Given the description of an element on the screen output the (x, y) to click on. 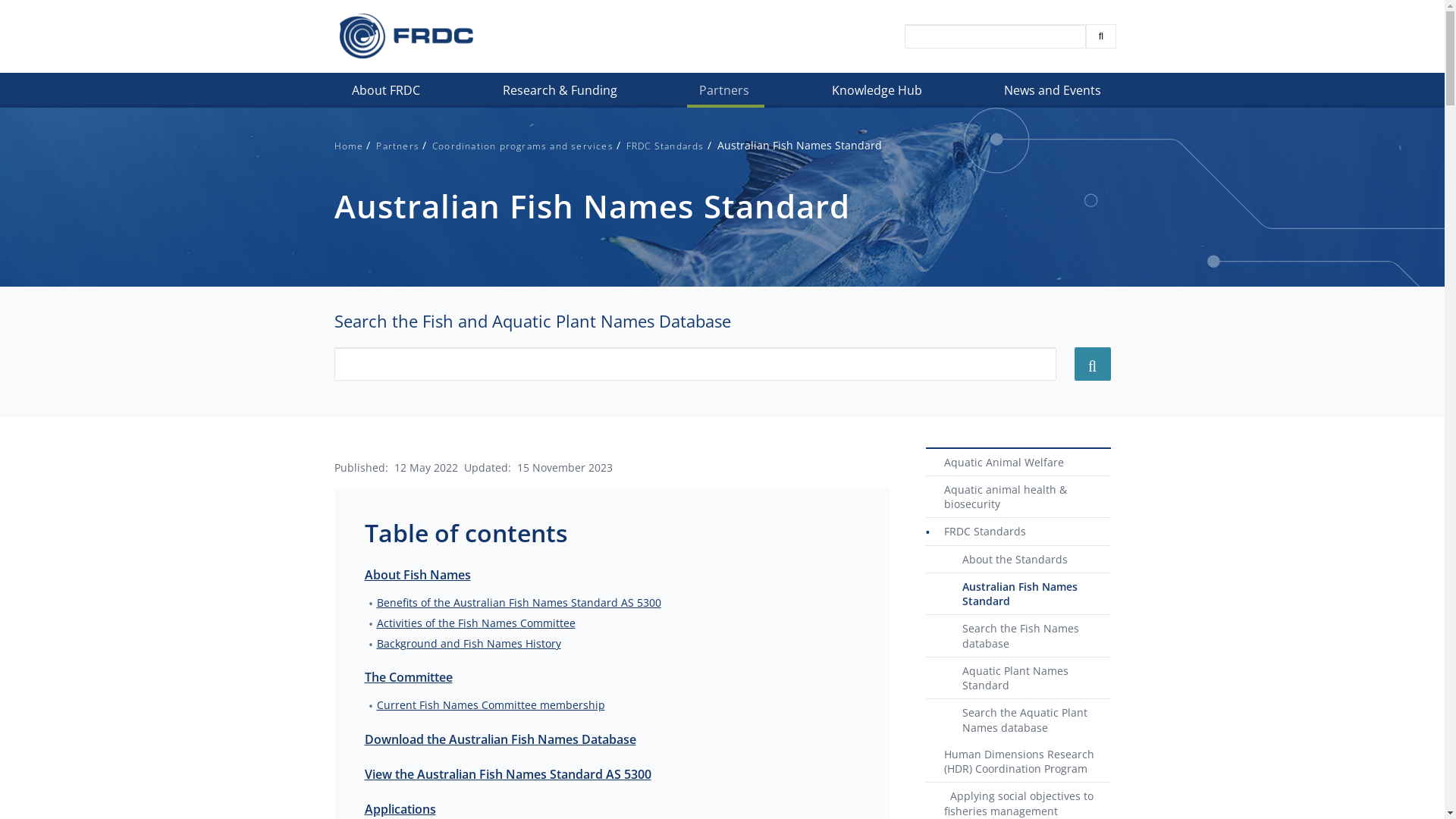
Research & Funding Element type: text (560, 93)
View the Australian Fish Names Standard AS 5300 Element type: text (507, 773)
Knowledge Hub Element type: text (877, 93)
Current Fish Names Committee membership Element type: text (490, 704)
Human Dimensions Research (HDR) Coordination Program Element type: text (1017, 761)
Search the Aquatic Plant Names database Element type: text (1017, 719)
About Fish Names Element type: text (417, 573)
Aquatic animal health & biosecurity Element type: text (1017, 497)
FRDC Standards Element type: text (1017, 531)
Home Element type: text (348, 145)
Aquatic Animal Welfare Element type: text (1017, 462)
Benefits of the Australian Fish Names Standard AS 5300 Element type: text (518, 601)
The Committee Element type: text (407, 676)
Skip to main content Element type: text (0, 107)
Partners Element type: text (397, 145)
Coordination programs and services Element type: text (522, 145)
FRDC Standards Element type: text (665, 145)
Search the Fish Names database Element type: text (1017, 636)
About the Standards Element type: text (1017, 559)
Australian Fish Names Standard Element type: text (1017, 594)
Download the Australian Fish Names Database Element type: text (499, 739)
Background and Fish Names History Element type: text (468, 643)
Aquatic Plant Names Standard Element type: text (1017, 678)
Home Element type: hover (406, 36)
News and Events Element type: text (1053, 93)
Partners Element type: text (725, 93)
About FRDC Element type: text (387, 93)
Applications Element type: text (399, 808)
Activities of the Fish Names Committee Element type: text (475, 622)
